Given the description of an element on the screen output the (x, y) to click on. 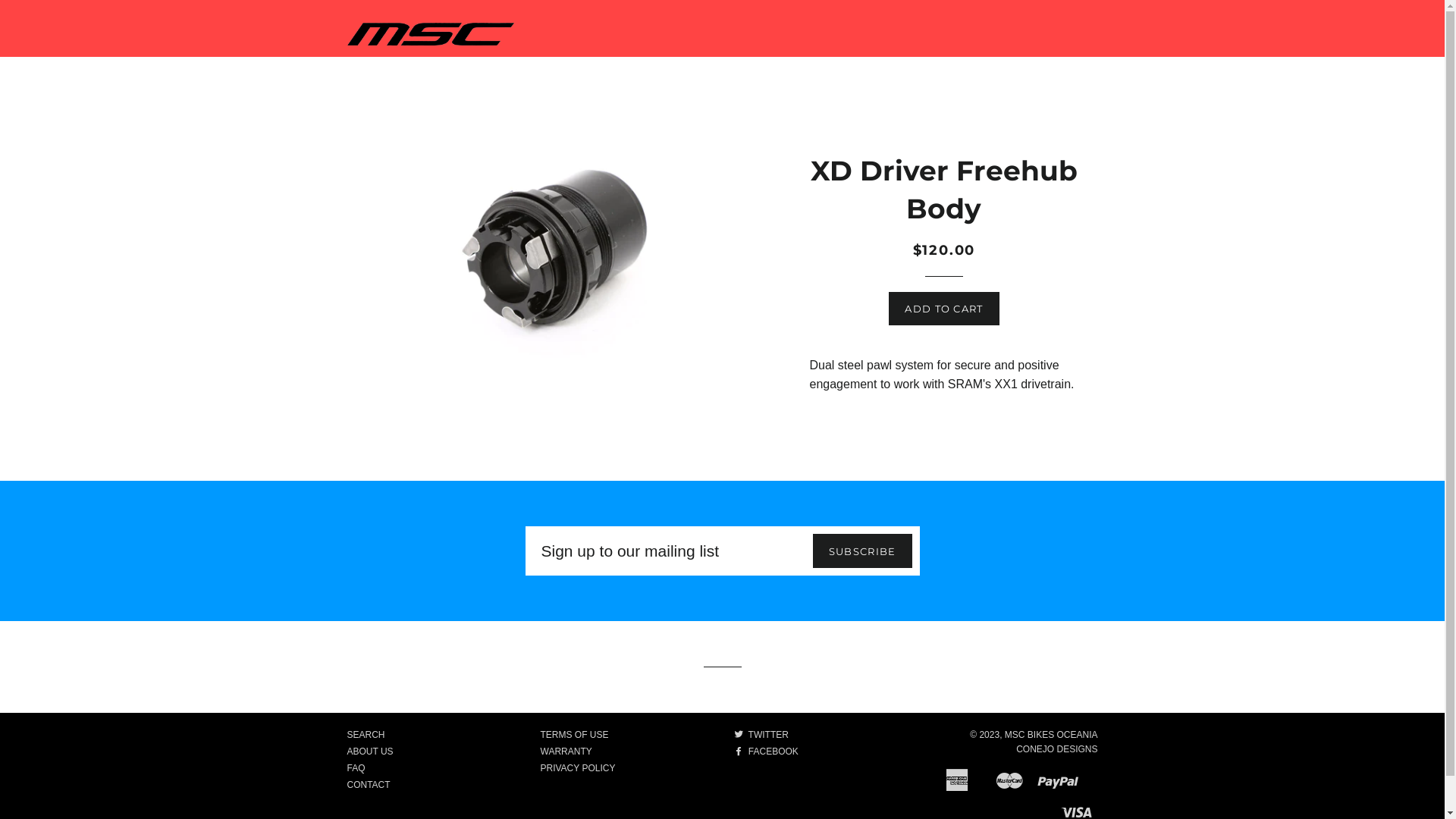
SUBSCRIBE Element type: text (862, 550)
TWITTER Element type: text (761, 734)
WARRANTY Element type: text (565, 751)
SEARCH Element type: text (366, 734)
ABOUT US Element type: text (370, 751)
ADD TO CART Element type: text (943, 308)
CONTACT Element type: text (368, 784)
FACEBOOK Element type: text (766, 751)
FAQ Element type: text (356, 767)
TERMS OF USE Element type: text (573, 734)
PRIVACY POLICY Element type: text (577, 767)
